Given the description of an element on the screen output the (x, y) to click on. 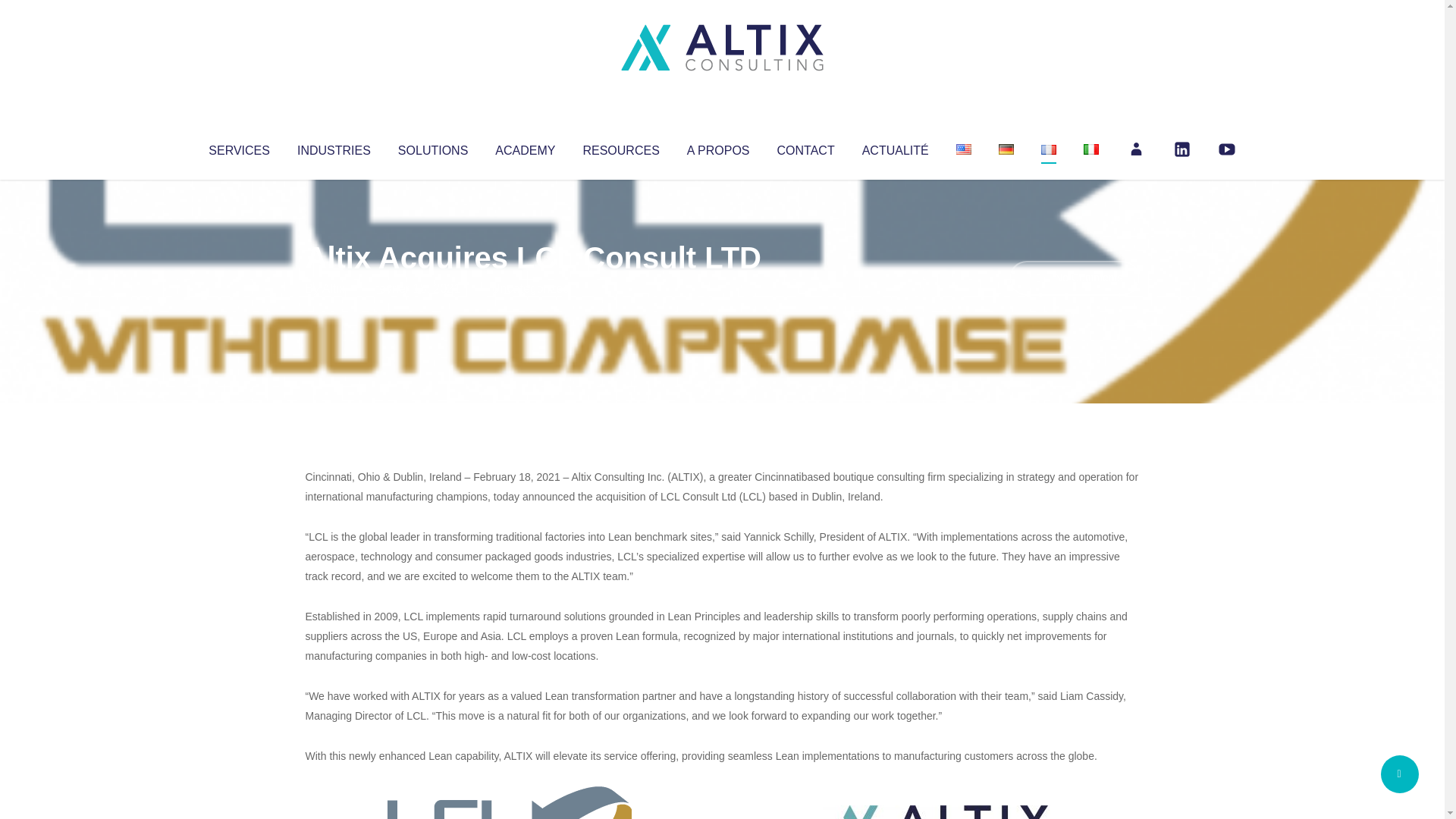
Altix (333, 287)
SOLUTIONS (432, 146)
Uncategorized (530, 287)
INDUSTRIES (334, 146)
RESOURCES (620, 146)
SERVICES (238, 146)
A PROPOS (718, 146)
ACADEMY (524, 146)
No Comments (1073, 278)
Articles par Altix (333, 287)
